Given the description of an element on the screen output the (x, y) to click on. 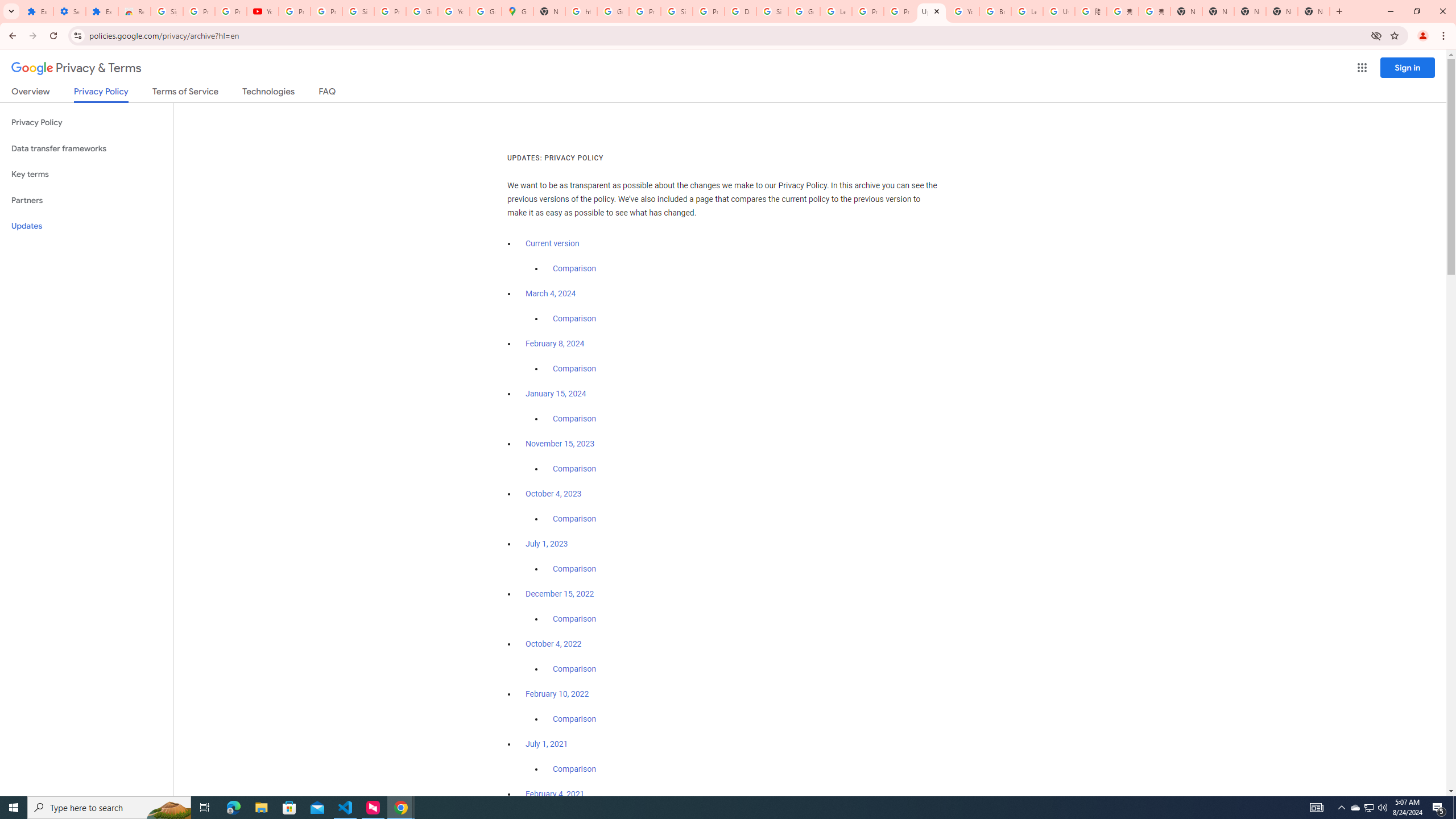
YouTube (963, 11)
Data transfer frameworks (86, 148)
July 1, 2023 (546, 543)
https://scholar.google.com/ (581, 11)
March 4, 2024 (550, 293)
Sign in - Google Accounts (772, 11)
February 8, 2024 (555, 343)
Key terms (86, 174)
